Given the description of an element on the screen output the (x, y) to click on. 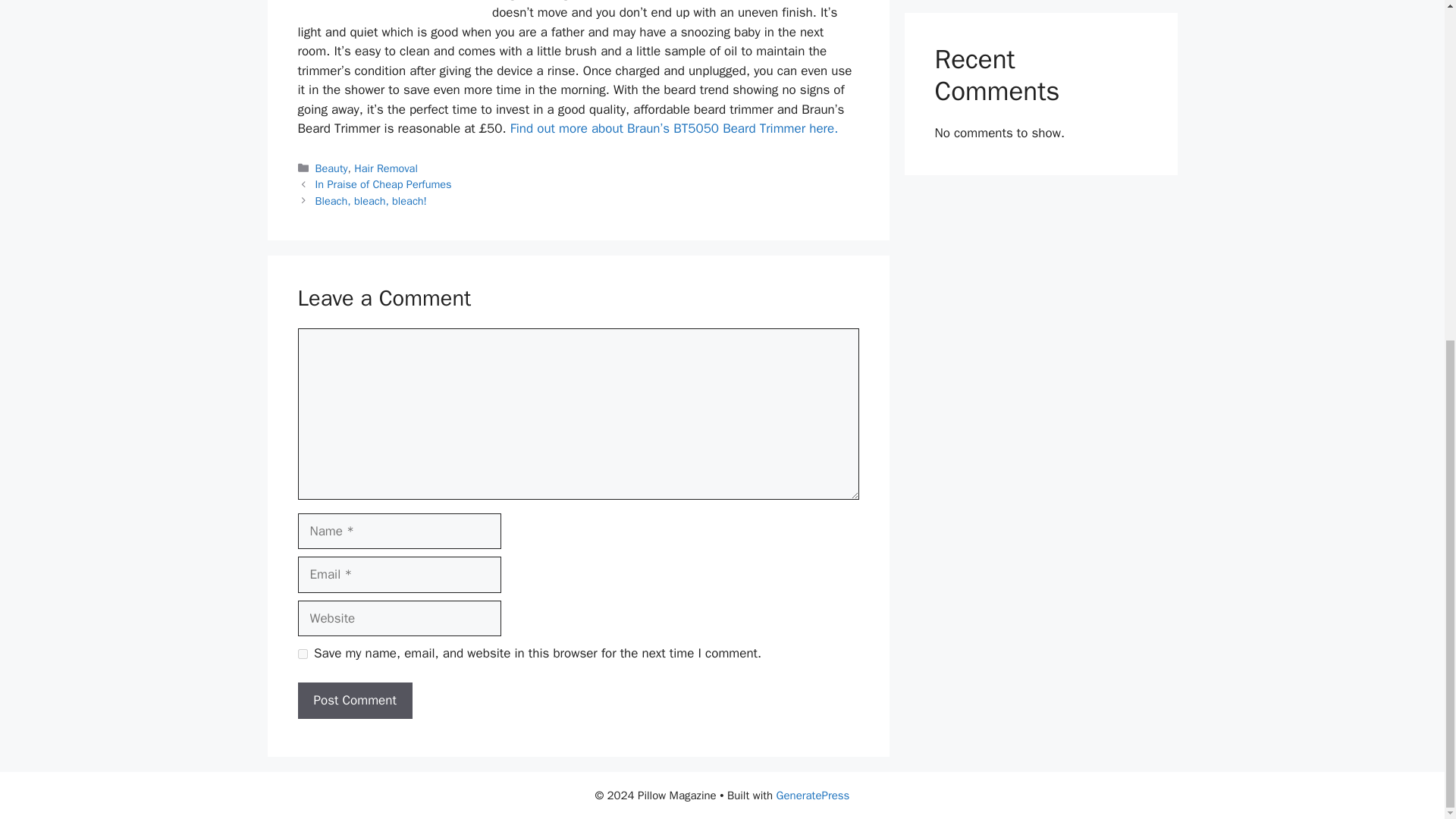
Previous (383, 183)
Beauty (331, 168)
Bleach, bleach, bleach! (370, 201)
Hair Removal (385, 168)
Next (370, 201)
In Praise of Cheap Perfumes (383, 183)
yes (302, 654)
GeneratePress (813, 795)
Post Comment (354, 700)
Post Comment (354, 700)
